Given the description of an element on the screen output the (x, y) to click on. 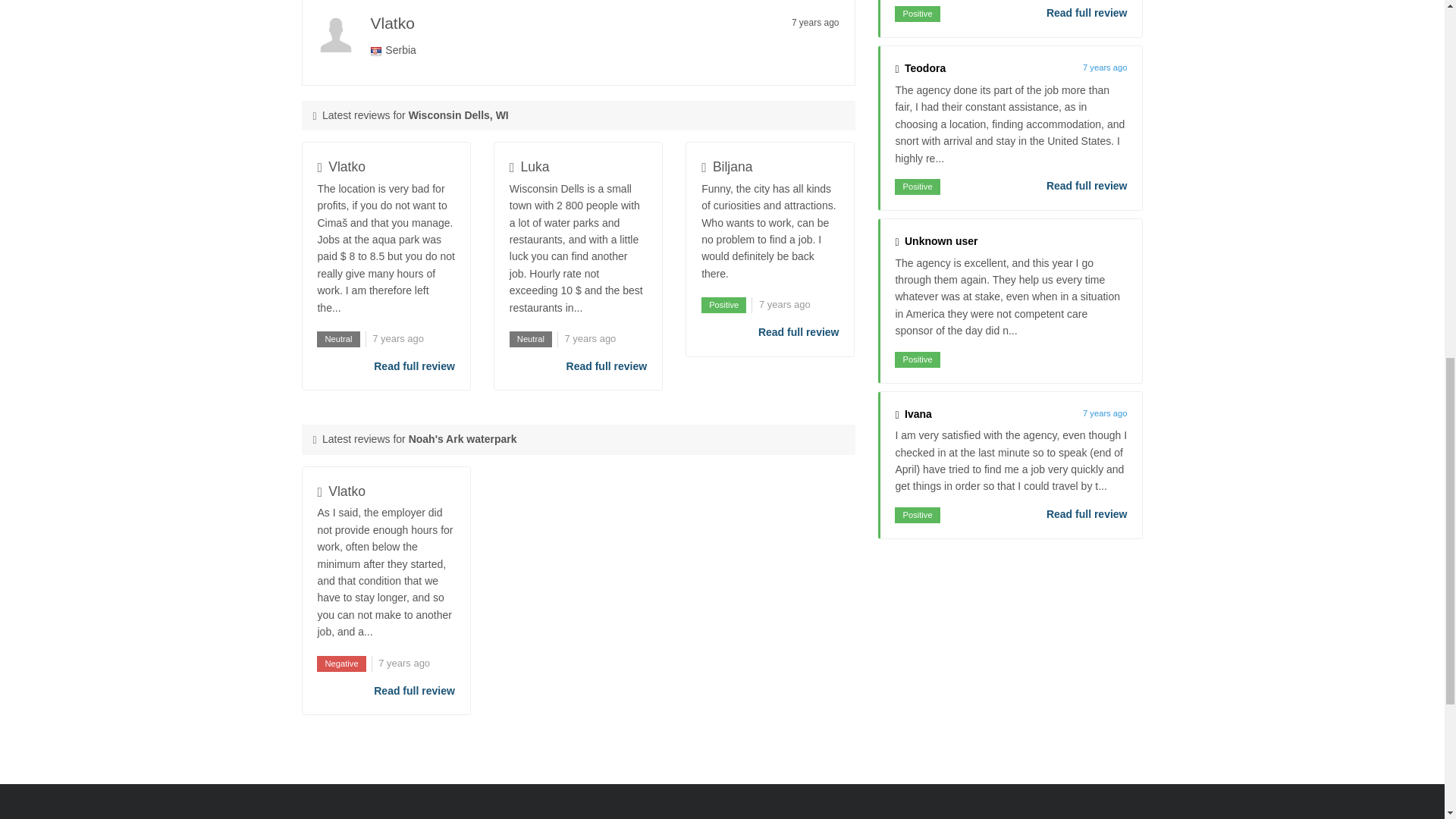
Read full review (606, 365)
Read full review (1086, 12)
Read full review (1086, 185)
Read full review (414, 365)
Read full review (799, 331)
Read full review (414, 690)
Read full review (1086, 514)
